Given the description of an element on the screen output the (x, y) to click on. 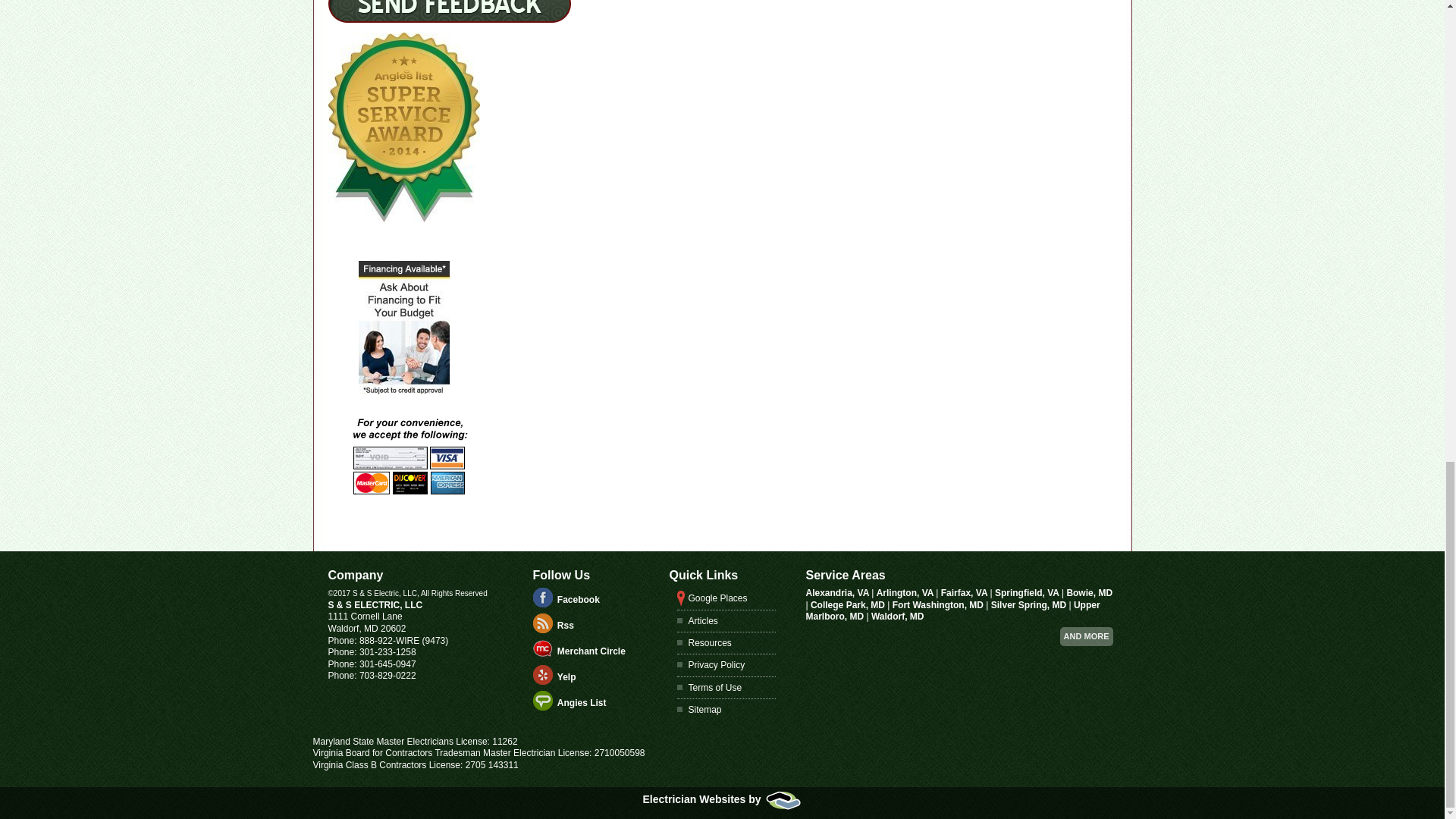
Opens in a new window (718, 597)
Opens in a new window (578, 599)
Opens in a new window (591, 651)
Opens in a new window (582, 702)
Opens in a new window (566, 676)
Opens in a new window (722, 799)
